Given the description of an element on the screen output the (x, y) to click on. 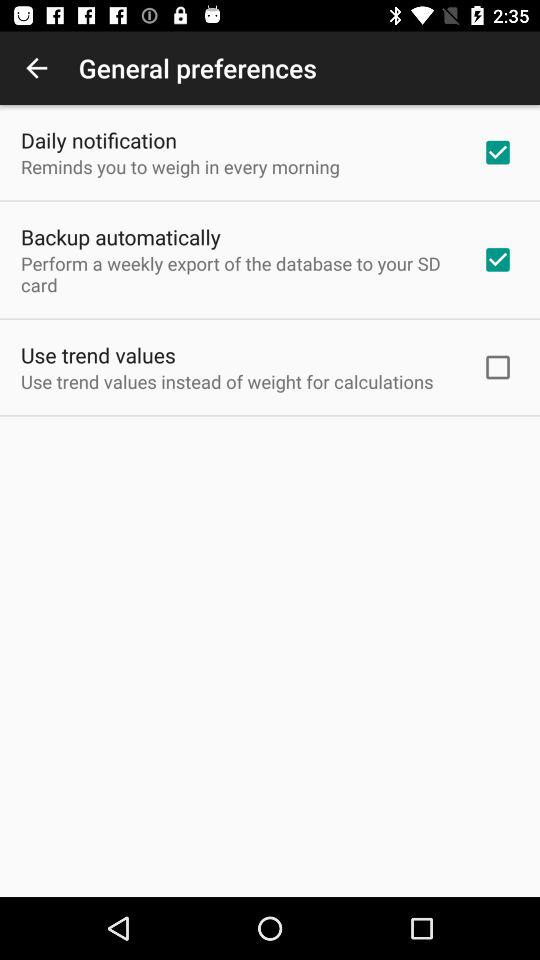
choose icon below the reminds you to app (120, 236)
